Given the description of an element on the screen output the (x, y) to click on. 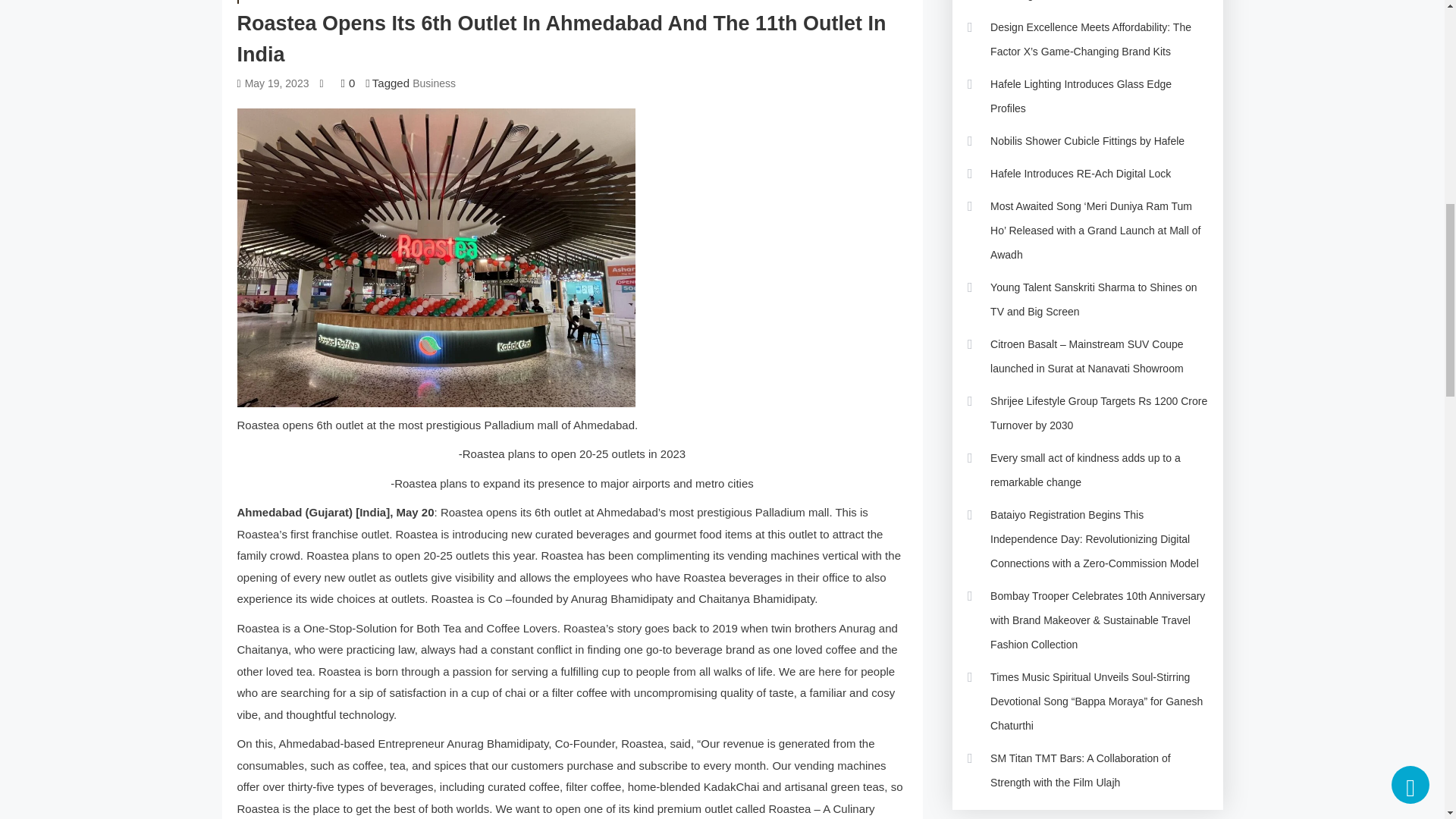
Business (433, 83)
Business (268, 2)
May 19, 2023 (276, 83)
